Given the description of an element on the screen output the (x, y) to click on. 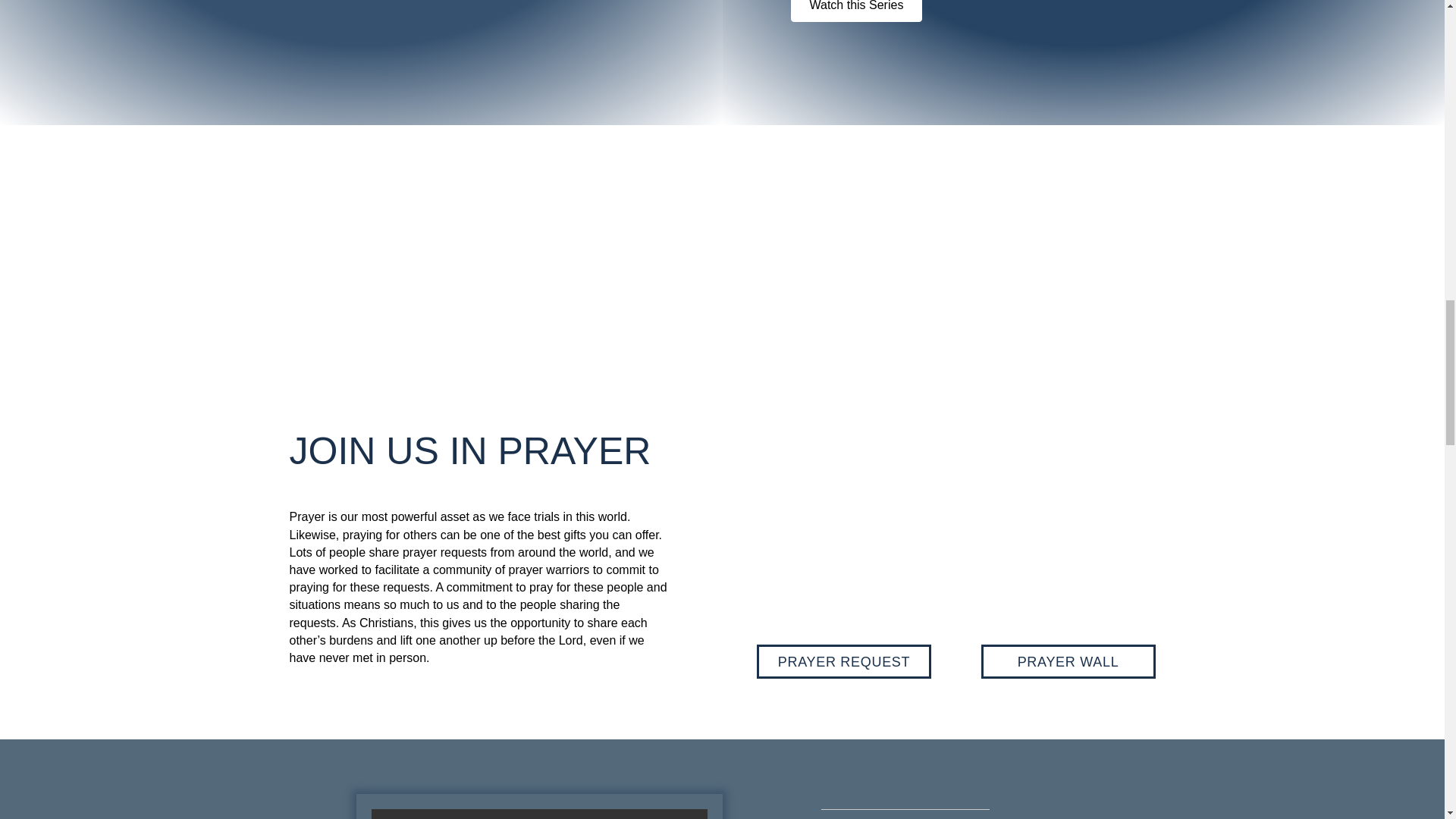
Top-Graphic-Prayer-Warrior-3-2048x797 (945, 532)
Click Here (855, 11)
Click Here (1068, 661)
Click Here (844, 661)
